Given the description of an element on the screen output the (x, y) to click on. 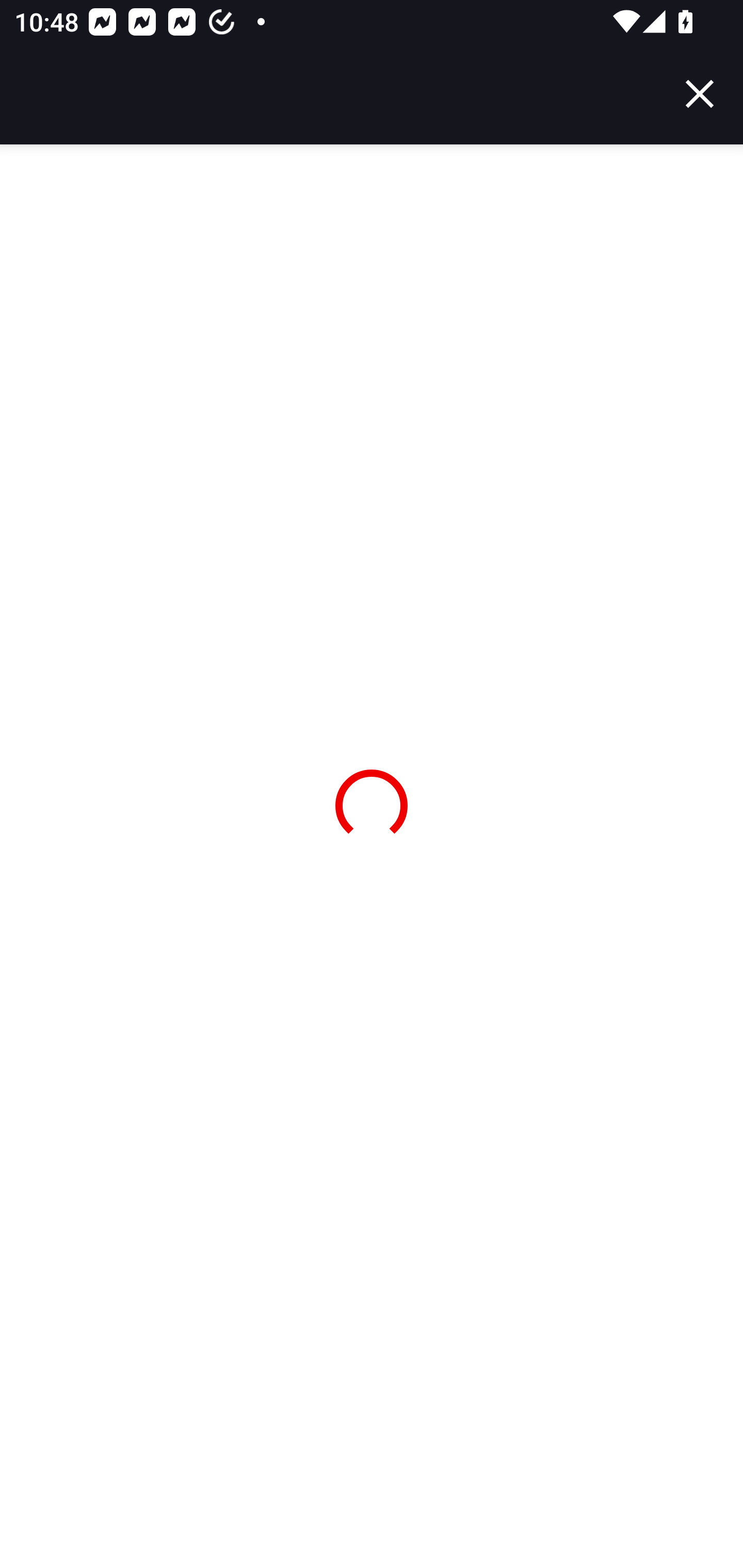
Close (699, 93)
